Given the description of an element on the screen output the (x, y) to click on. 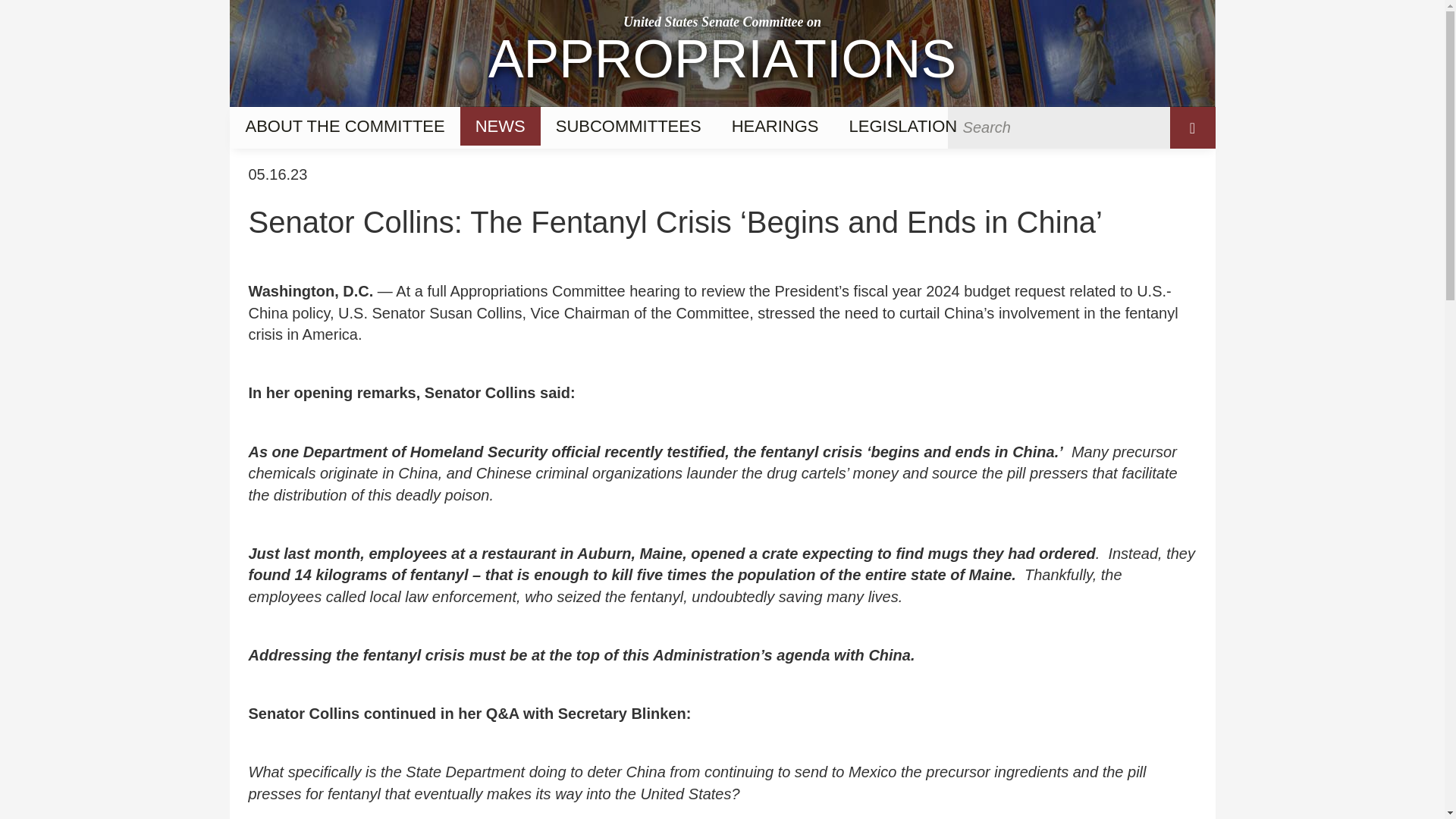
NEWS (500, 126)
ABOUT THE COMMITTEE (721, 53)
